Given the description of an element on the screen output the (x, y) to click on. 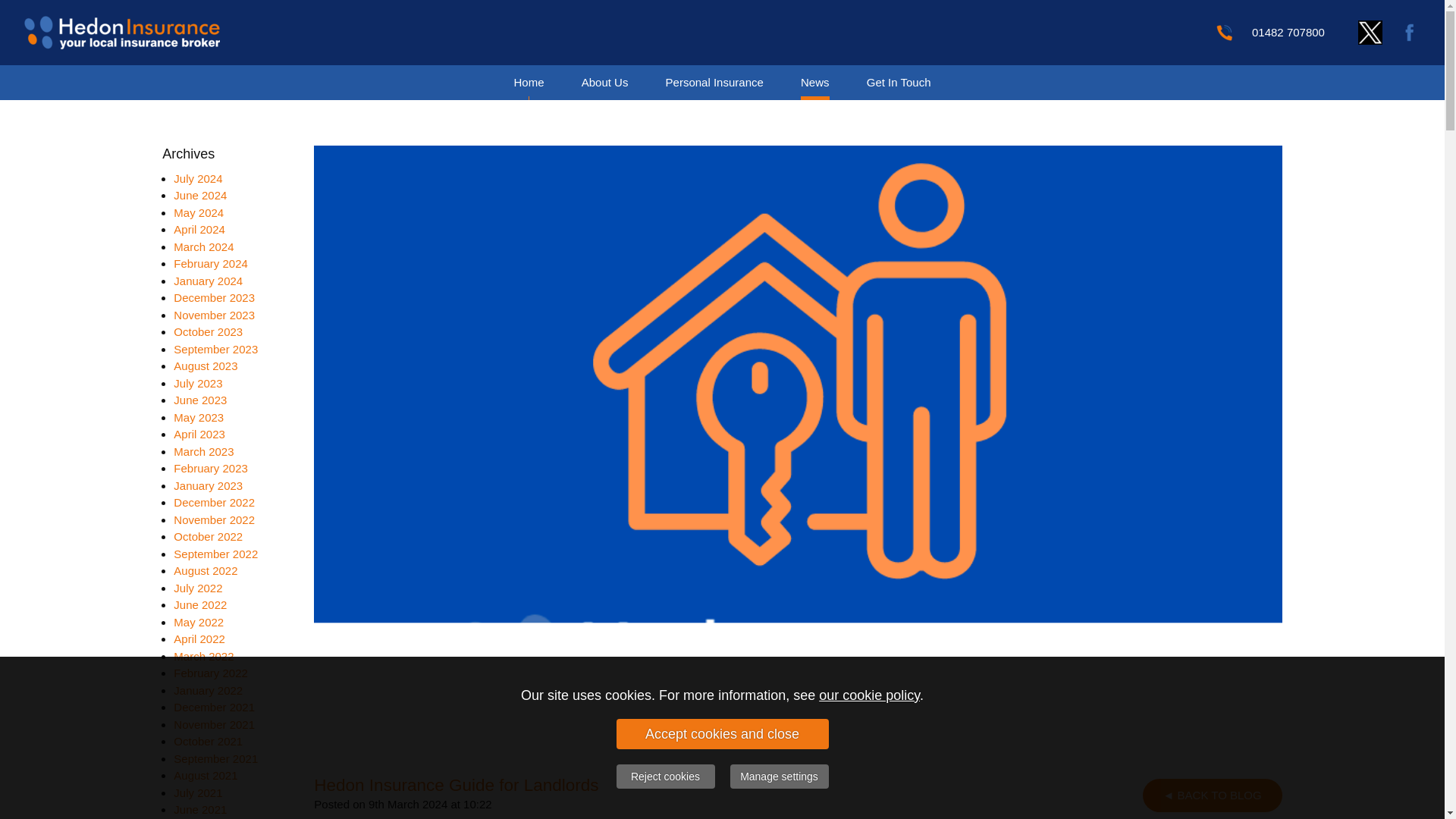
July 2023 (197, 382)
April 2023 (199, 433)
Home (528, 82)
01482 707800 (1288, 31)
June 2024 (200, 195)
Personal Insurance (713, 82)
News (815, 82)
May 2023 (198, 417)
February 2024 (210, 263)
July 2024 (197, 177)
About Us (605, 82)
Get In Touch (899, 82)
March 2024 (202, 245)
March 2023 (202, 450)
June 2023 (200, 399)
